Given the description of an element on the screen output the (x, y) to click on. 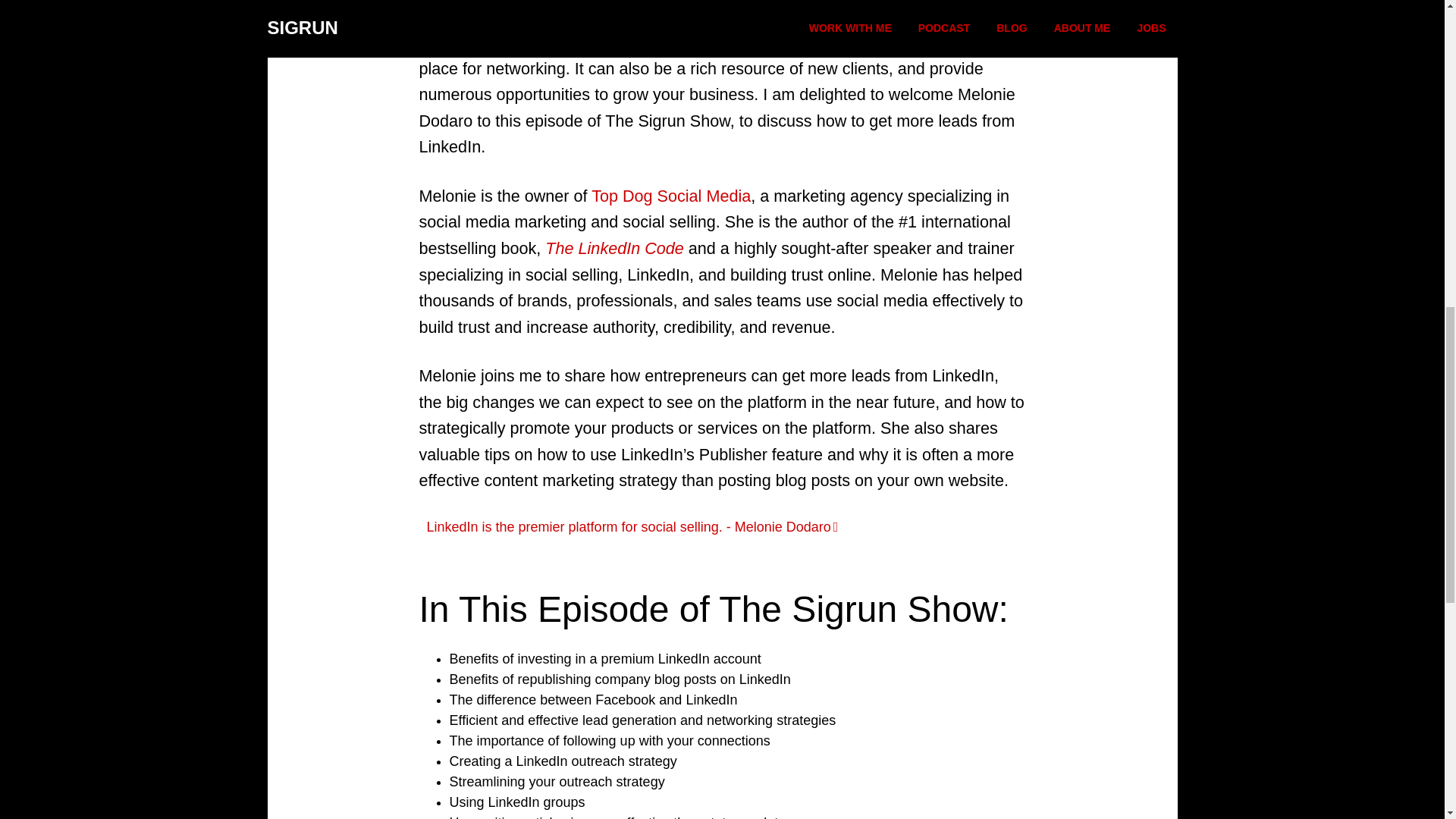
Top Dog Social Media (671, 195)
social media platforms (759, 41)
The LinkedIn Code (613, 248)
